Given the description of an element on the screen output the (x, y) to click on. 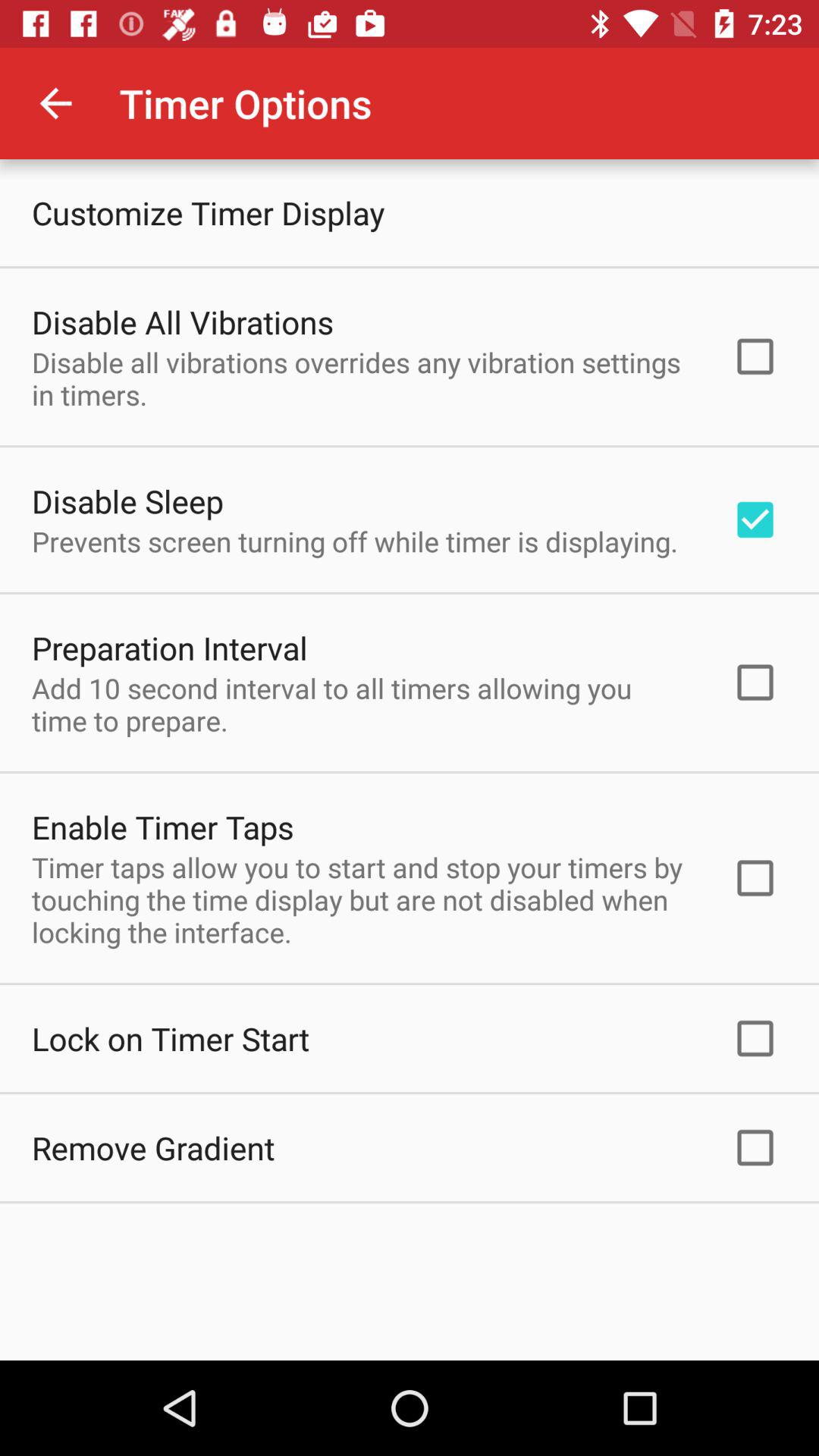
launch icon below lock on timer icon (152, 1147)
